Given the description of an element on the screen output the (x, y) to click on. 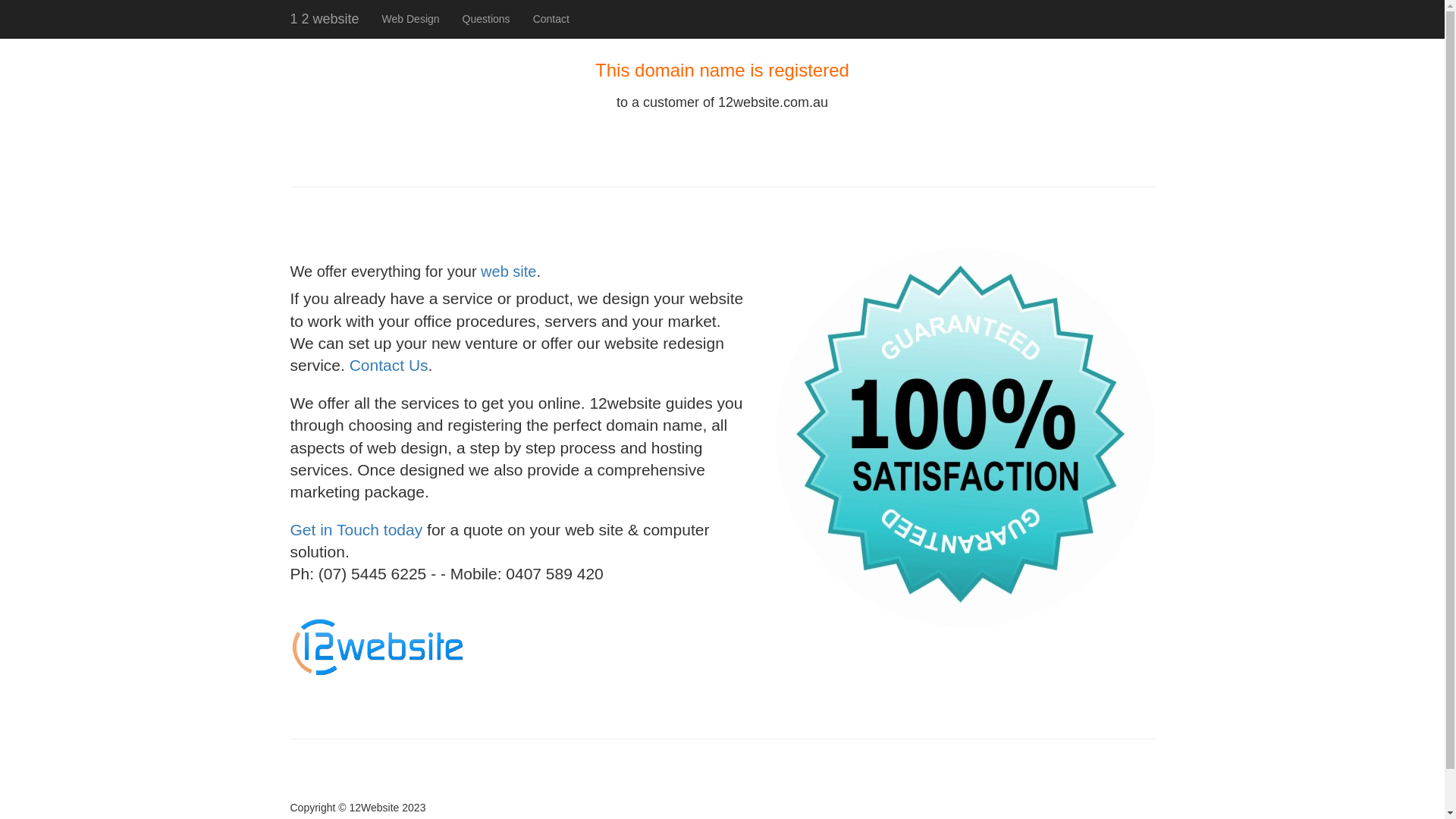
Questions Element type: text (486, 18)
Web Design Element type: text (410, 18)
Get in Touch today Element type: text (355, 529)
1 2 website Element type: text (324, 18)
Contact Us Element type: text (388, 364)
web site Element type: text (508, 271)
Contact Element type: text (550, 18)
